Given the description of an element on the screen output the (x, y) to click on. 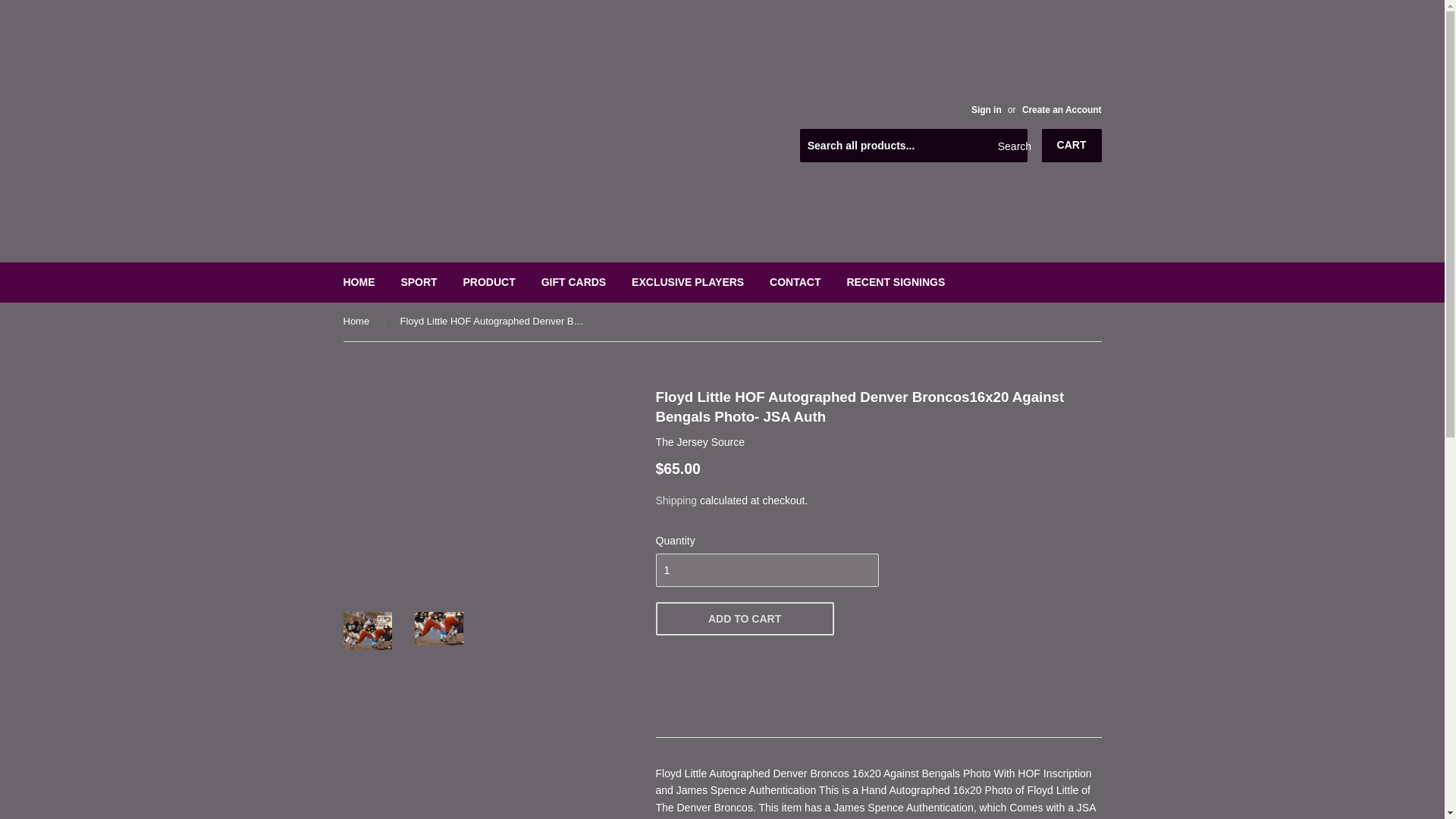
CART (1072, 145)
Create an Account (1062, 109)
1 (766, 570)
Search (1009, 146)
Sign in (986, 109)
